Given the description of an element on the screen output the (x, y) to click on. 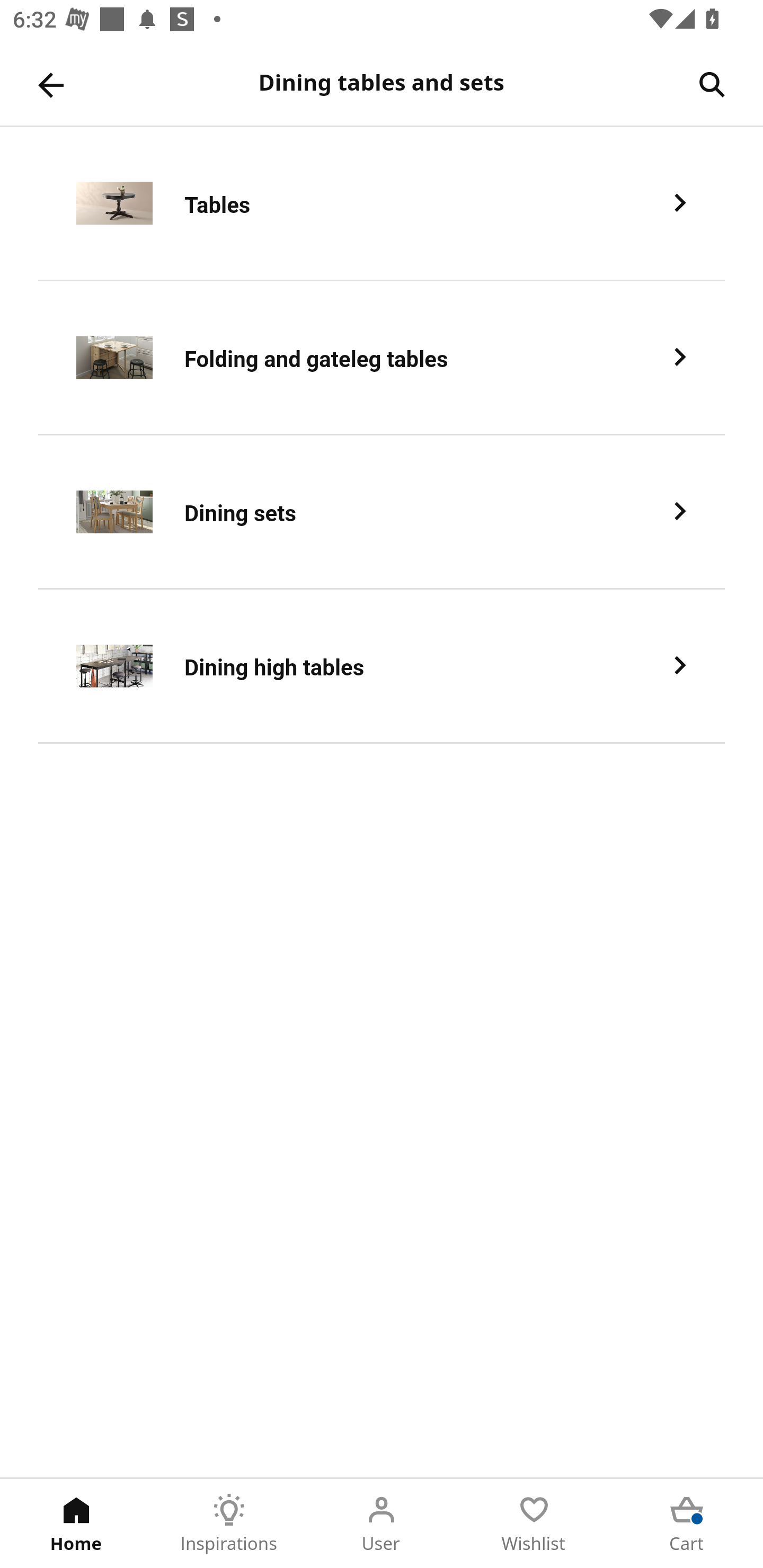
Tables  (381, 203)
Folding and gateleg tables  (381, 357)
Dining sets  (381, 512)
Dining high tables (381, 666)
Home
Tab 1 of 5 (76, 1522)
Inspirations
Tab 2 of 5 (228, 1522)
User
Tab 3 of 5 (381, 1522)
Wishlist
Tab 4 of 5 (533, 1522)
Cart
Tab 5 of 5 (686, 1522)
